Given the description of an element on the screen output the (x, y) to click on. 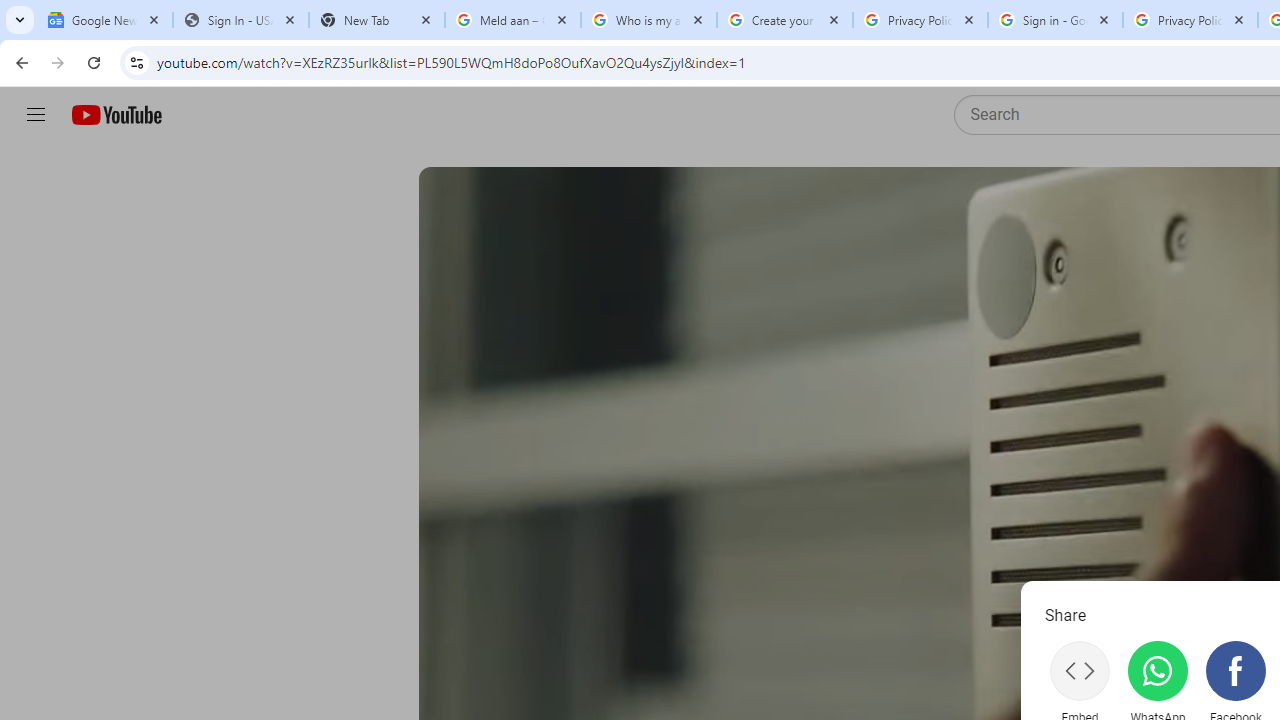
Create your Google Account (784, 20)
